Given the description of an element on the screen output the (x, y) to click on. 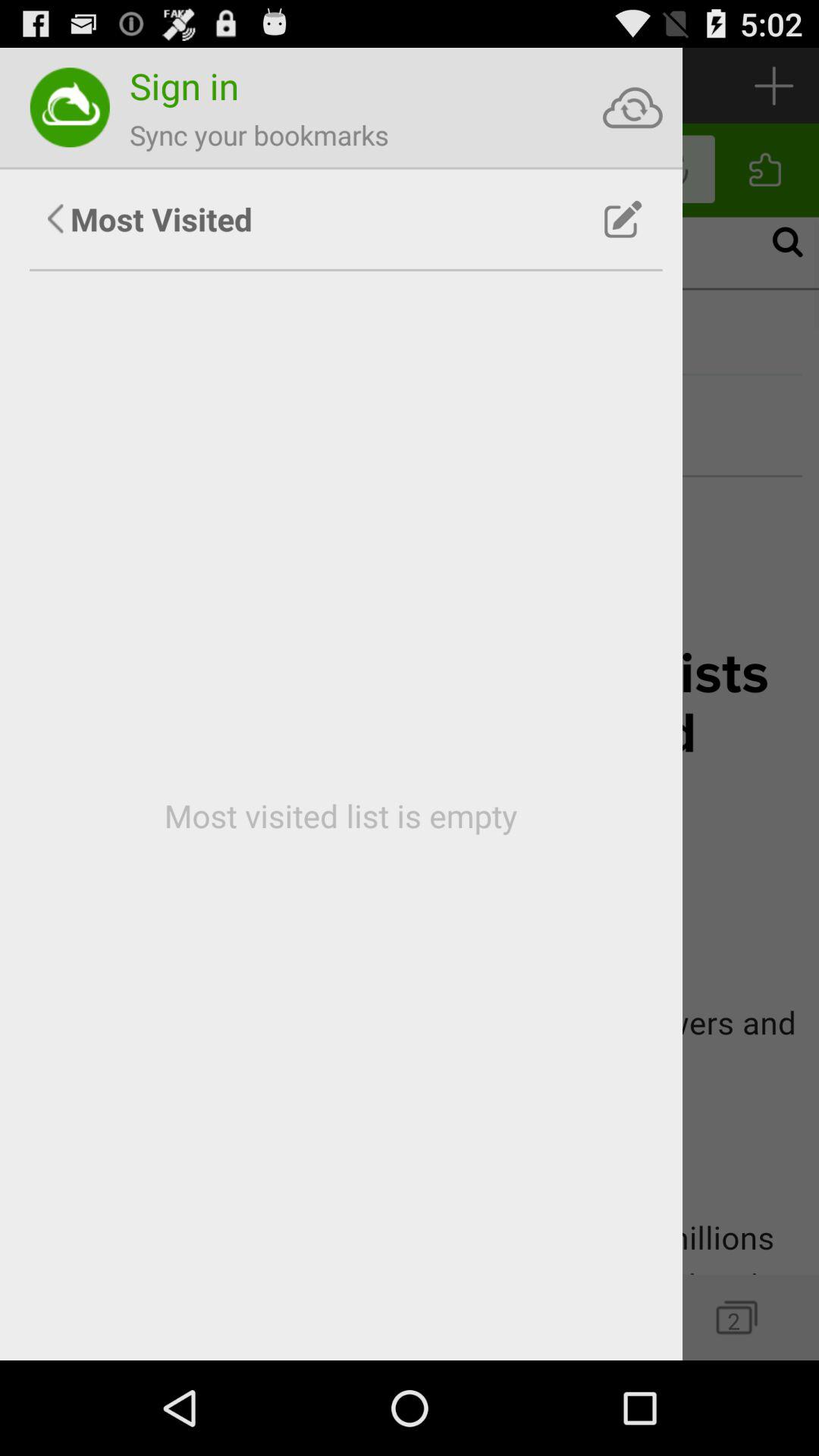
select the symbol which is right to most visited (623, 219)
select refresh icon which is after sign in on the page (632, 107)
go to the icon which is in the bottom right of the page (736, 1317)
